Given the description of an element on the screen output the (x, y) to click on. 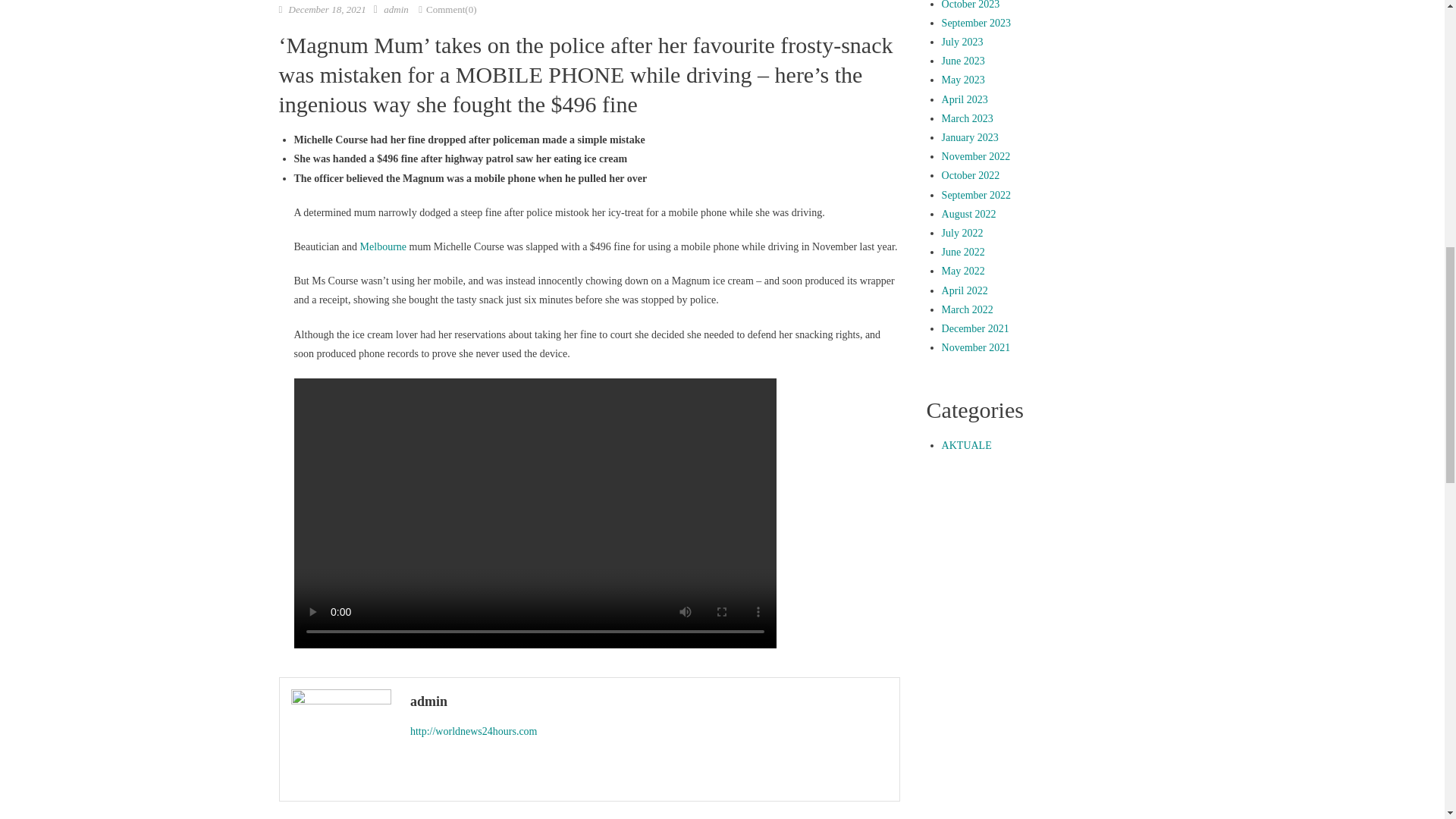
admin (649, 701)
December 18, 2021 (326, 9)
Melbourne (382, 246)
admin (396, 9)
